Given the description of an element on the screen output the (x, y) to click on. 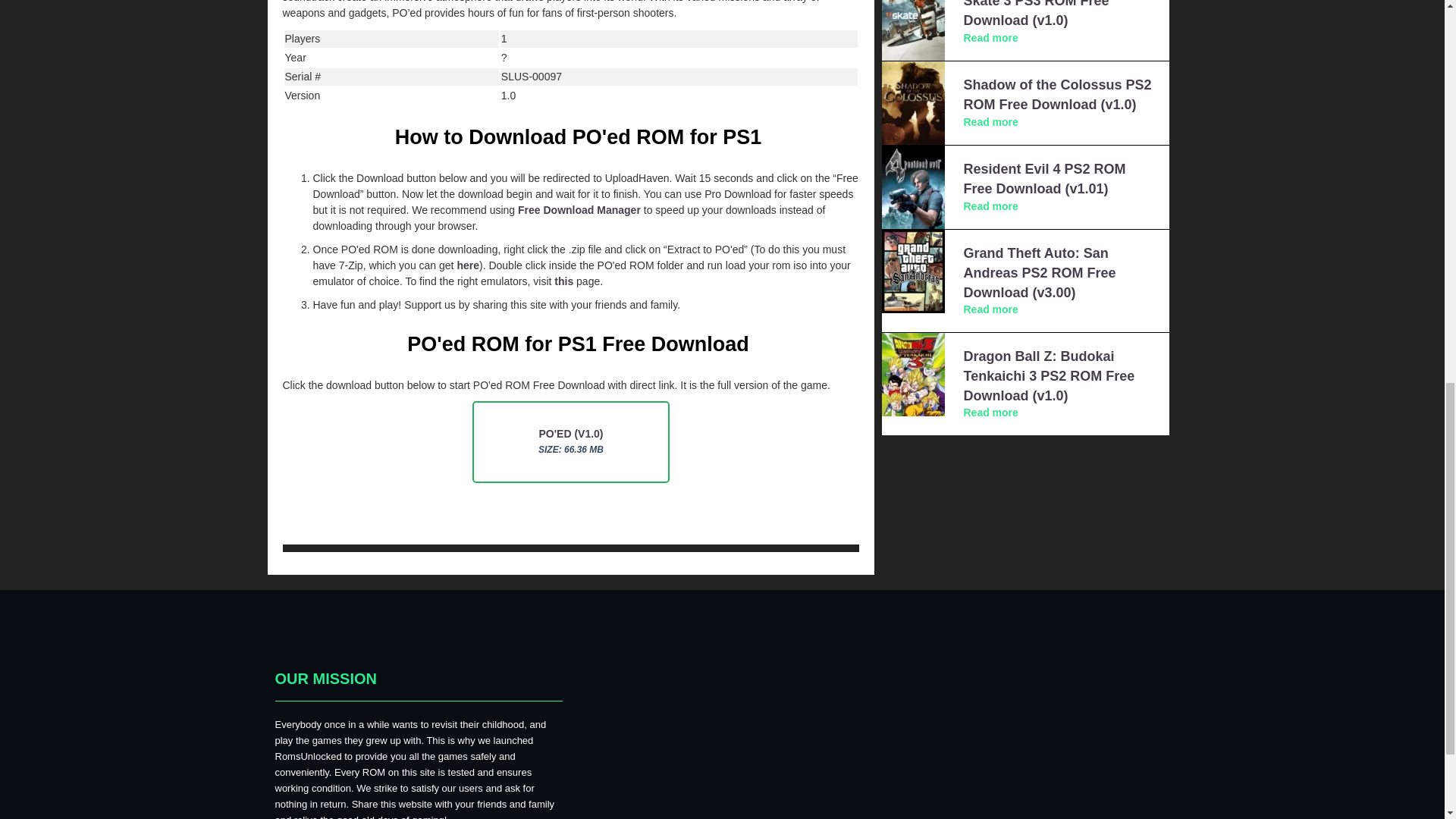
Read more (989, 121)
Read more (989, 309)
Read more (989, 37)
Free Download Manager (579, 209)
Read more (989, 205)
this (563, 281)
here (468, 265)
